Given the description of an element on the screen output the (x, y) to click on. 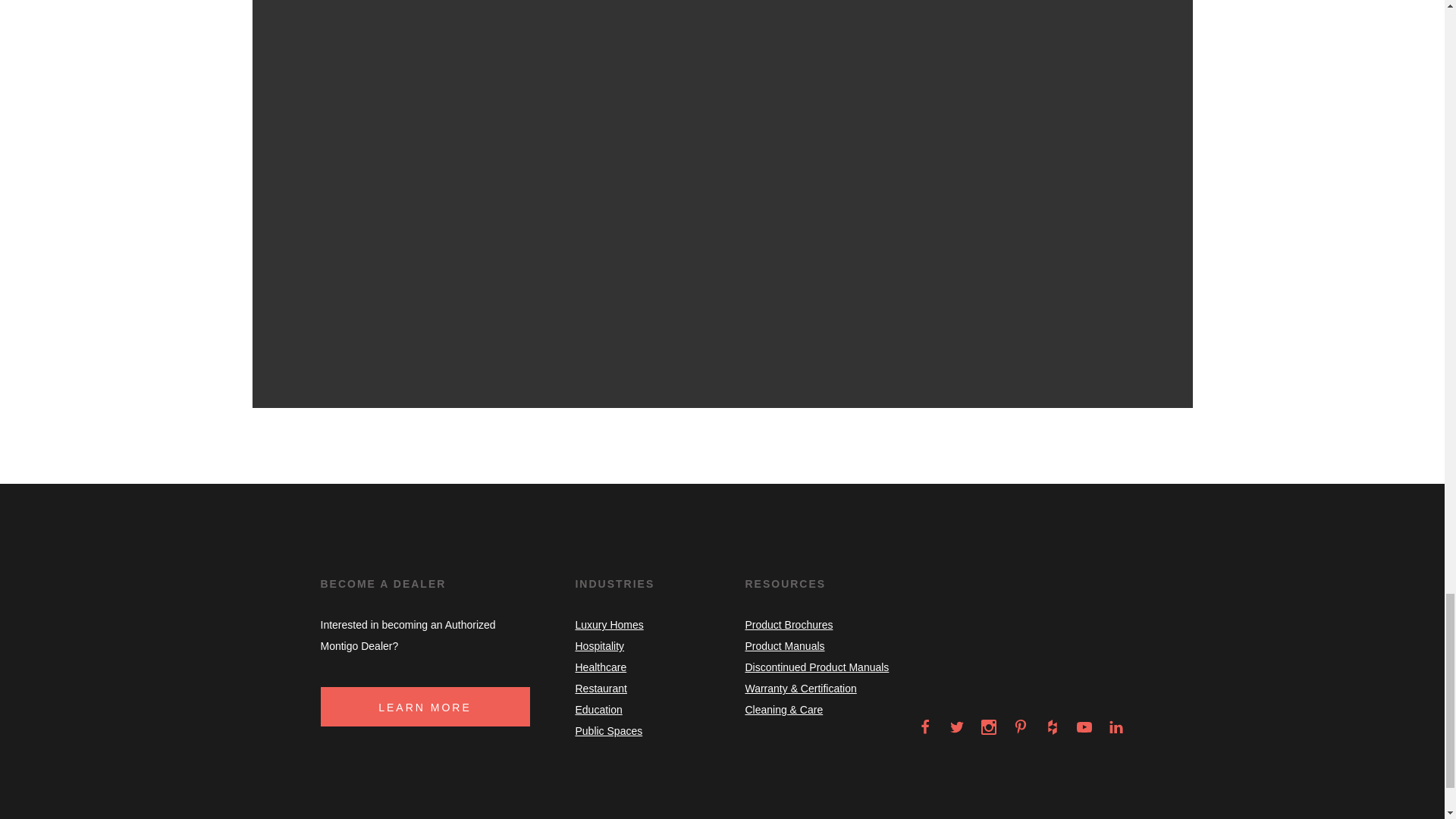
Montigo - the art of fireplaces  (1069, 678)
